Given the description of an element on the screen output the (x, y) to click on. 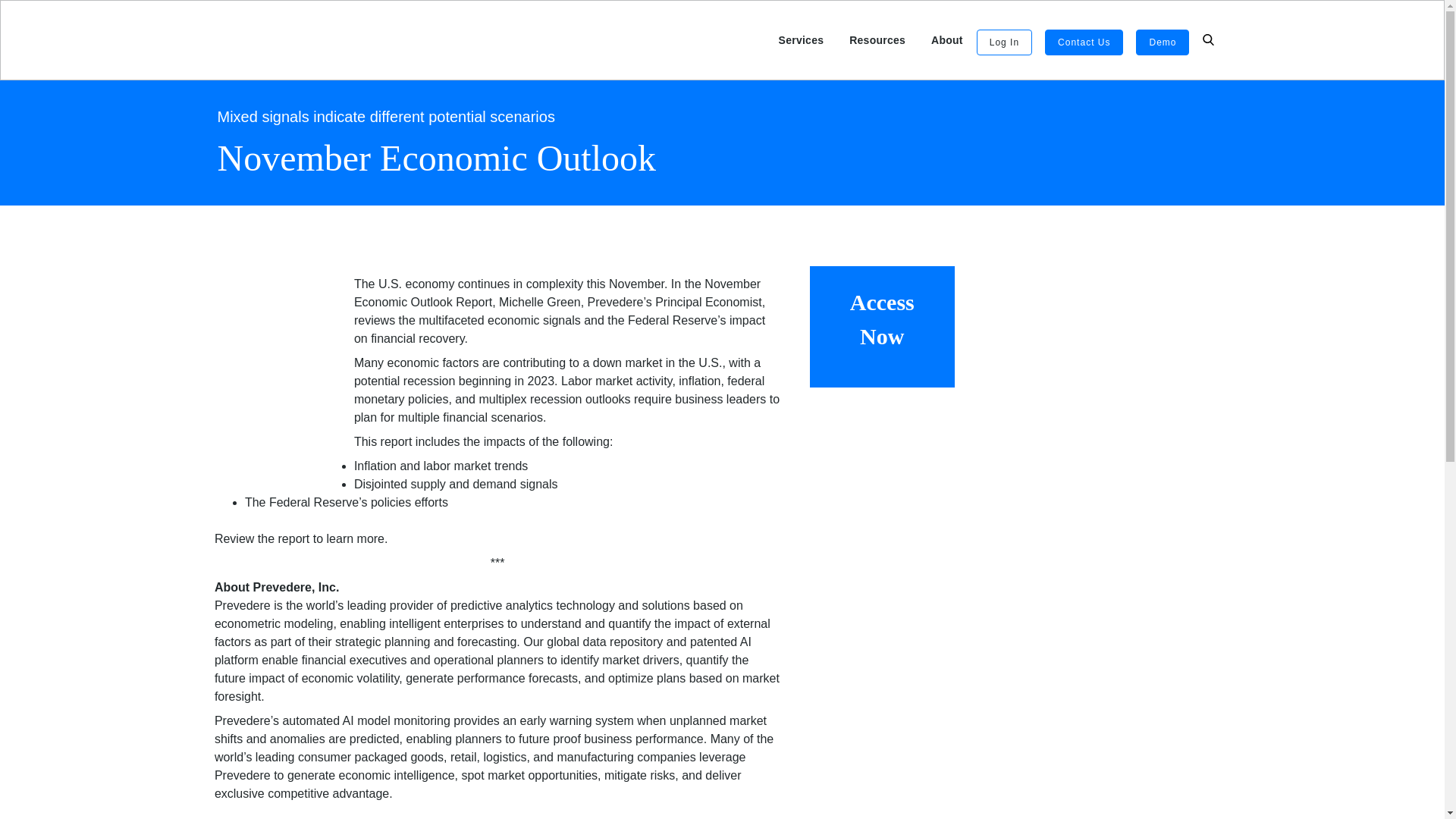
Resources (877, 40)
Services (801, 40)
